Given the description of an element on the screen output the (x, y) to click on. 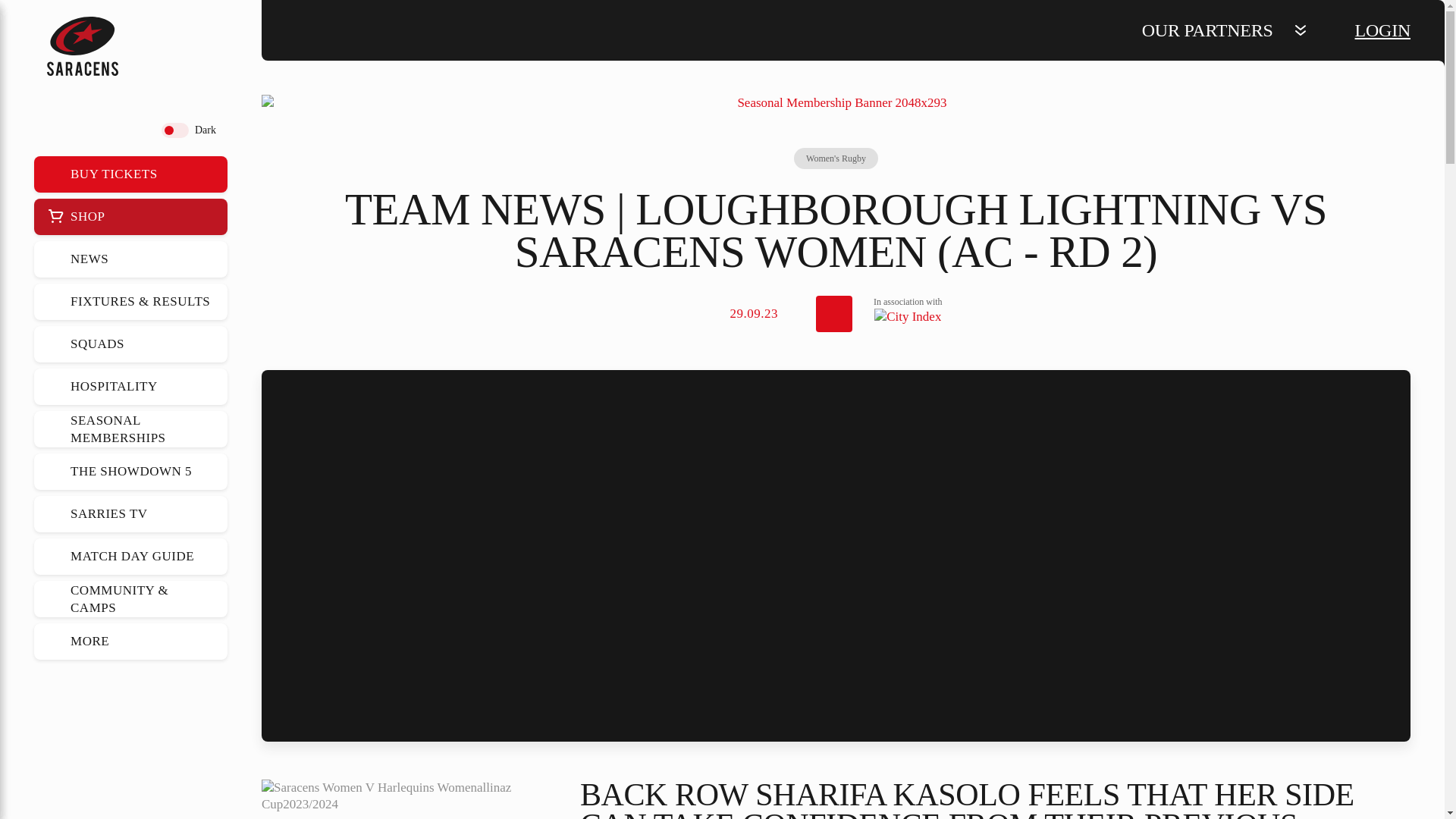
THE SHOWDOWN 5 (130, 471)
BUY TICKETS (130, 174)
NEWS (130, 258)
SHOP (130, 217)
Search (55, 130)
SARRIES TV (130, 514)
HOSPITALITY (130, 386)
LOGIN (1382, 29)
SQUADS (130, 343)
MATCH DAY GUIDE (130, 556)
SEASONAL MEMBERSHIPS (130, 429)
MORE (130, 641)
